Given the description of an element on the screen output the (x, y) to click on. 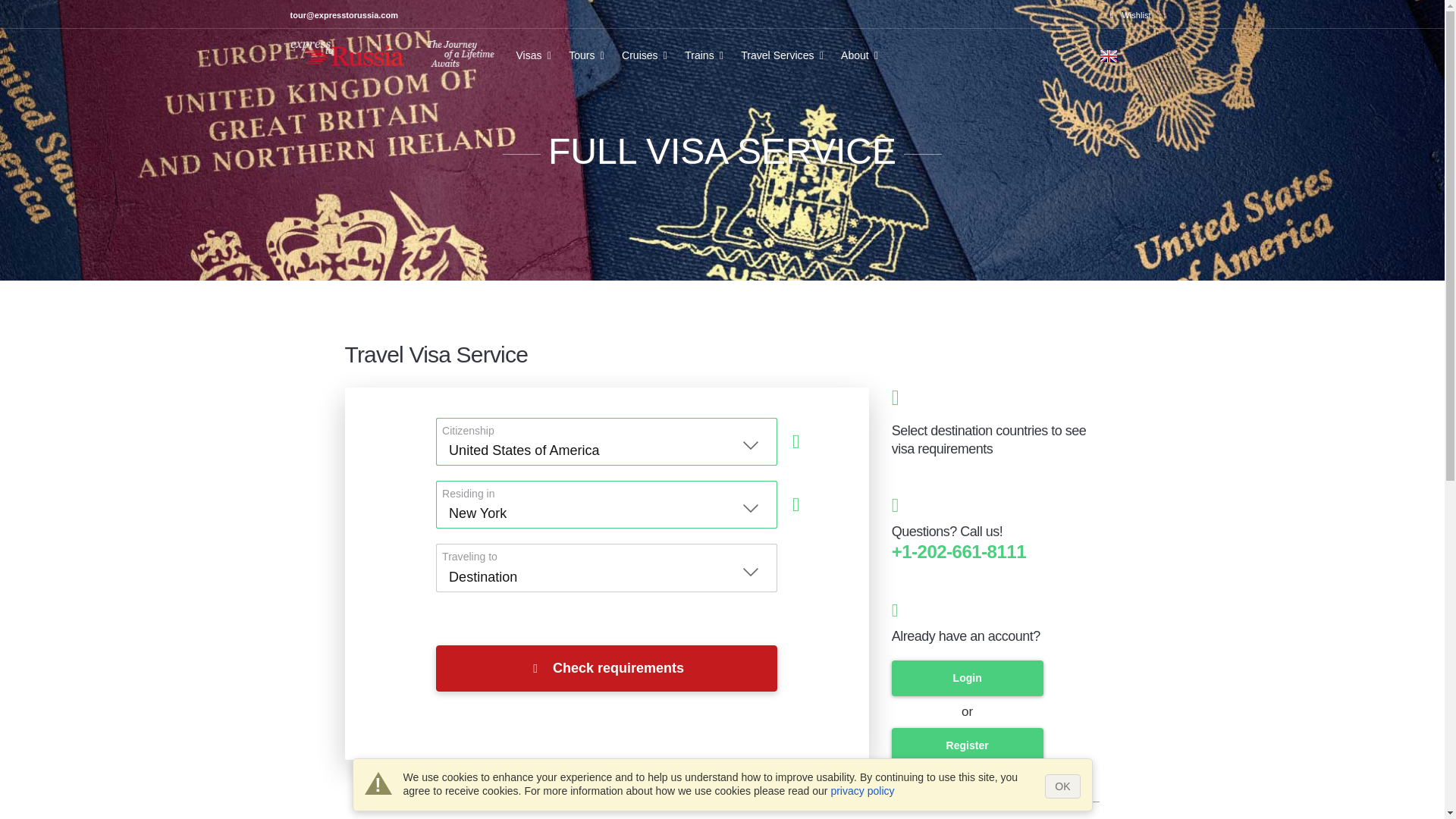
Tours (588, 61)
Trains (706, 61)
Cruises (646, 61)
Tours (588, 61)
Wishlist (1130, 14)
Visas (535, 61)
Visas (535, 61)
